Given the description of an element on the screen output the (x, y) to click on. 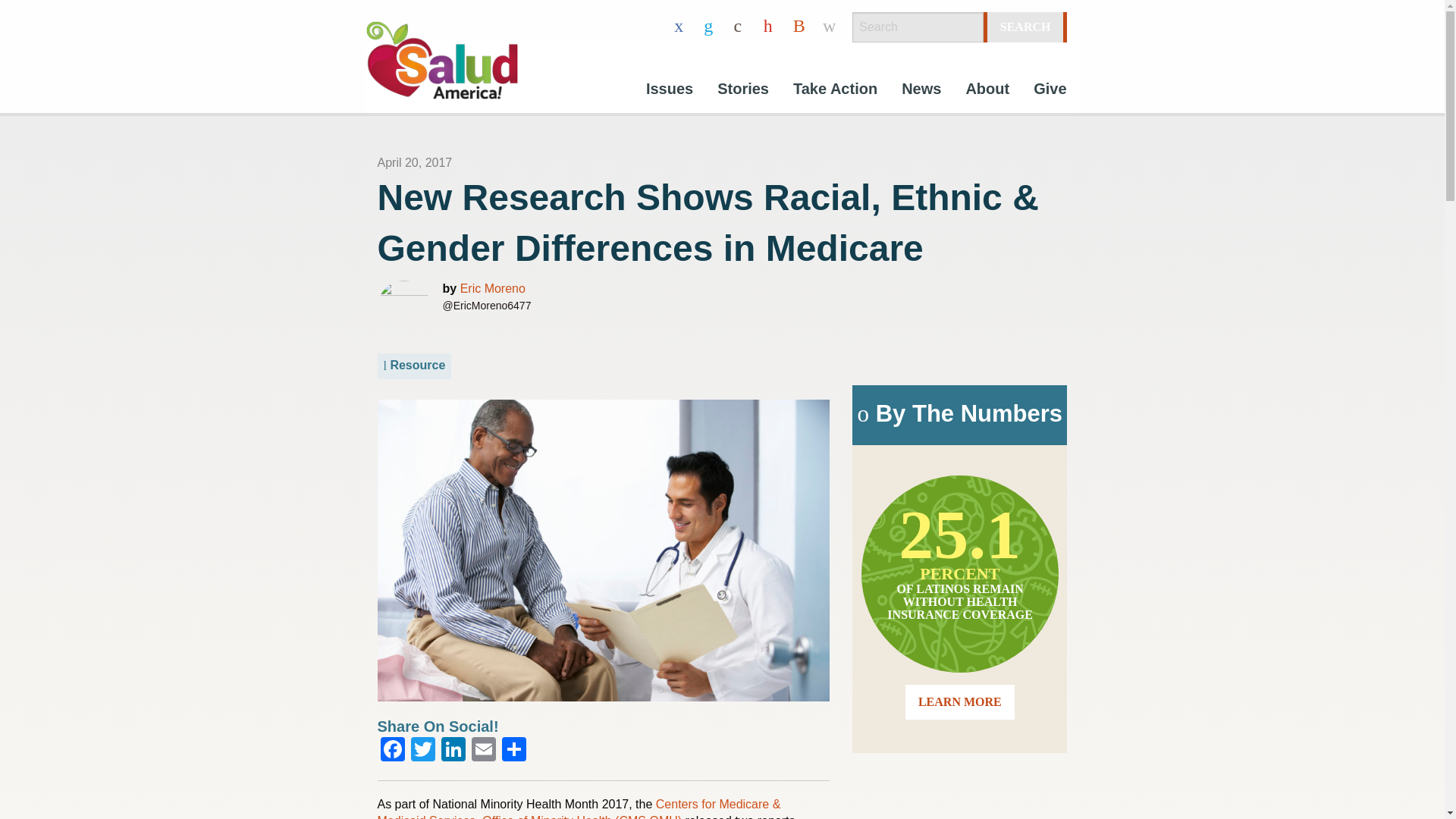
Facebook (392, 750)
Eric Moreno (492, 287)
Twitter (422, 750)
Facebook (392, 750)
Email (483, 750)
LinkedIn (453, 750)
LinkedIn (453, 750)
Stories (742, 90)
Email (483, 750)
Share (514, 750)
About (987, 90)
Search (1025, 27)
News (921, 90)
Issues (668, 90)
Take Action (834, 90)
